Given the description of an element on the screen output the (x, y) to click on. 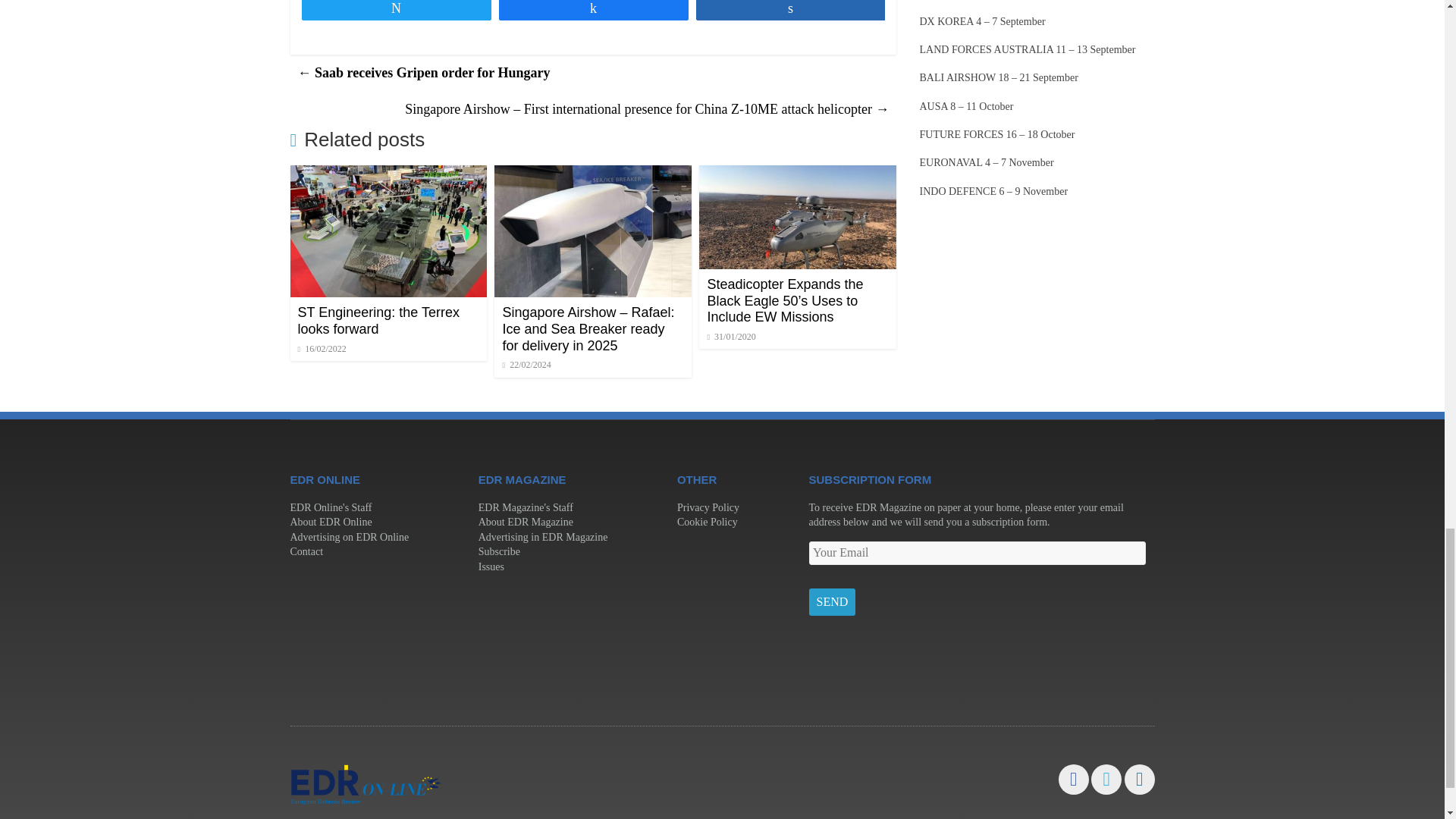
ST Engineering: the Terrex looks forward (377, 320)
ST Engineering: the Terrex looks forward (387, 174)
18:31 (321, 348)
SEND (832, 601)
